Given the description of an element on the screen output the (x, y) to click on. 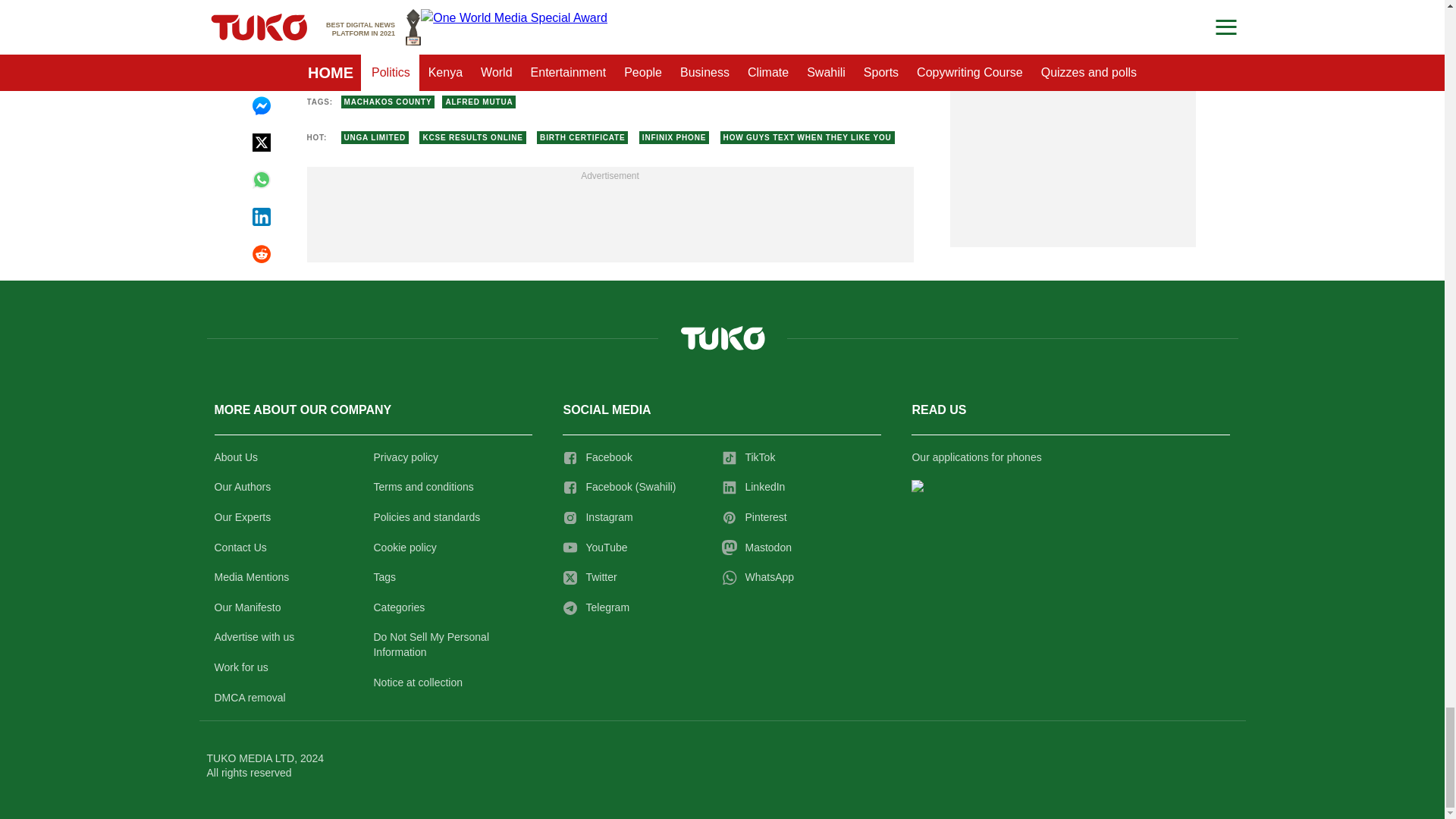
Author page (533, 52)
